Given the description of an element on the screen output the (x, y) to click on. 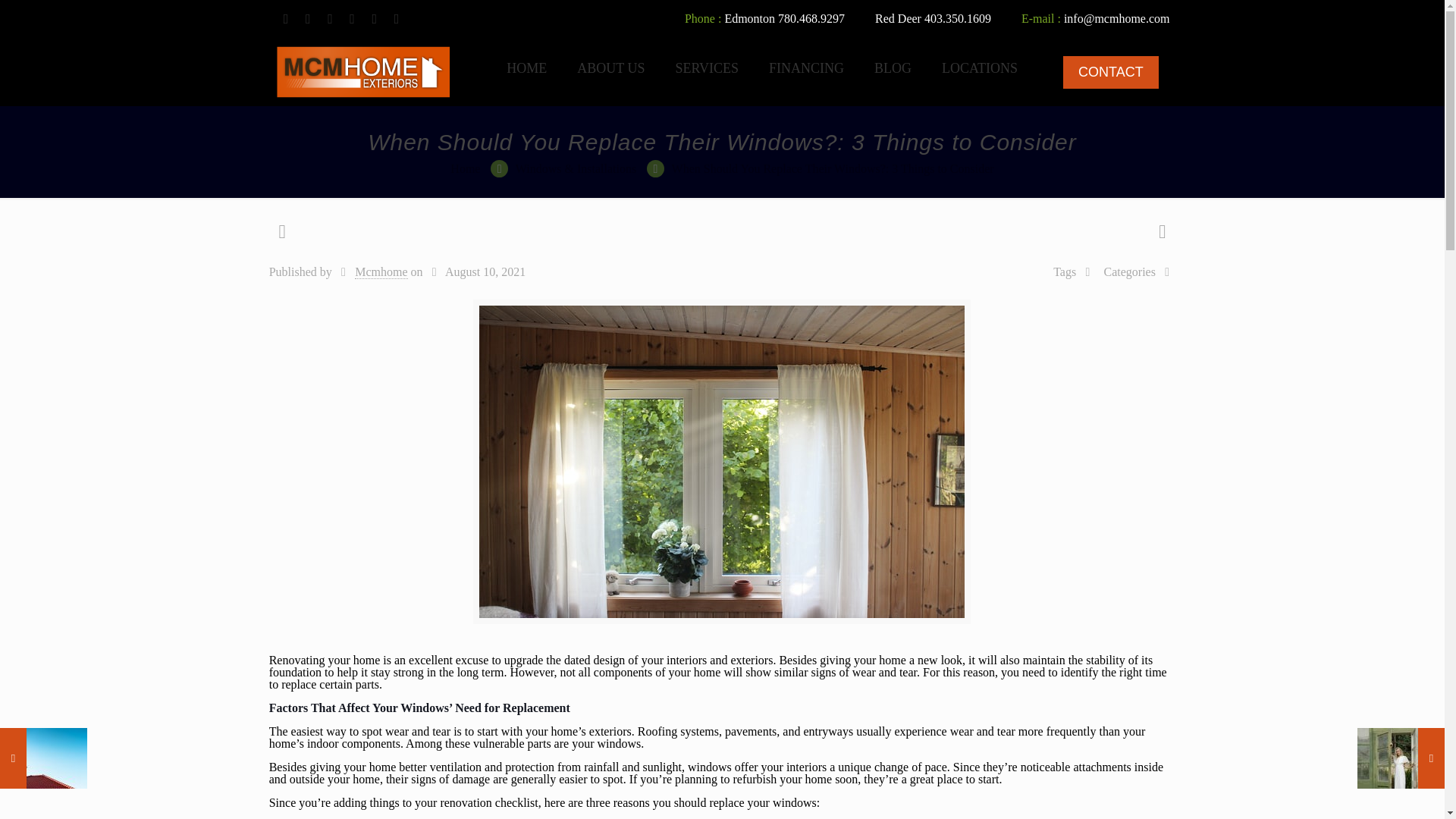
HOME (527, 67)
Our Locations (979, 67)
403.350.1609 (957, 18)
About MCM Home Exteriors (610, 67)
BLOG (892, 67)
SERVICES (706, 67)
Financing (806, 67)
780.468.9297 (810, 18)
LOCATIONS (979, 67)
FINANCING (806, 67)
CONTACT (1110, 72)
Our Services (706, 67)
Blog (892, 67)
ABOUT US (610, 67)
MCM Home Exteriors (527, 67)
